Given the description of an element on the screen output the (x, y) to click on. 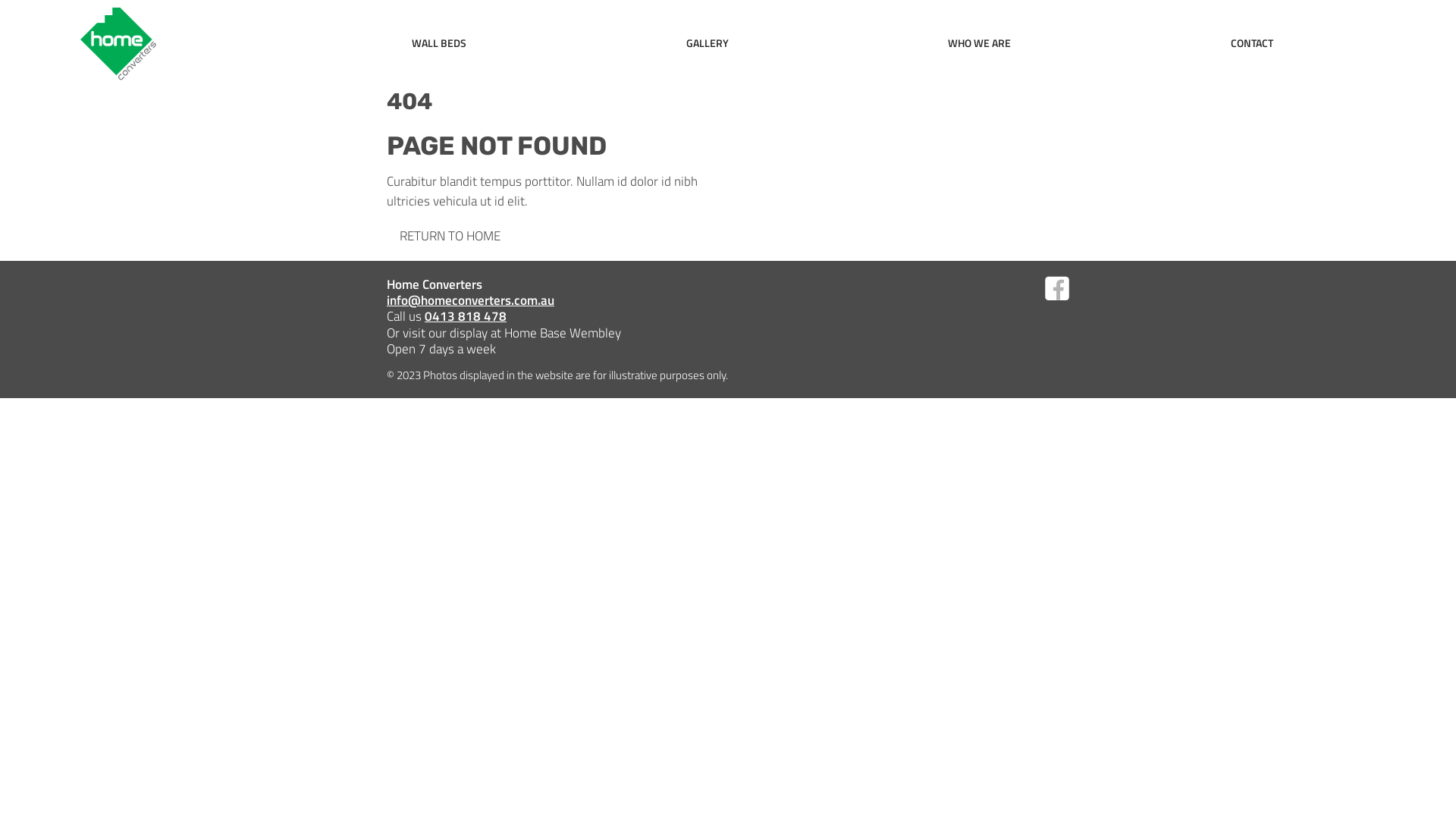
0413 818 478 Element type: text (465, 315)
CONTACT Element type: text (1251, 42)
WHO WE ARE Element type: text (979, 42)
WALL BEDS Element type: text (438, 42)
info@homeconverters.com.au Element type: text (470, 299)
RETURN TO HOME Element type: text (449, 235)
GALLERY Element type: text (707, 42)
